Given the description of an element on the screen output the (x, y) to click on. 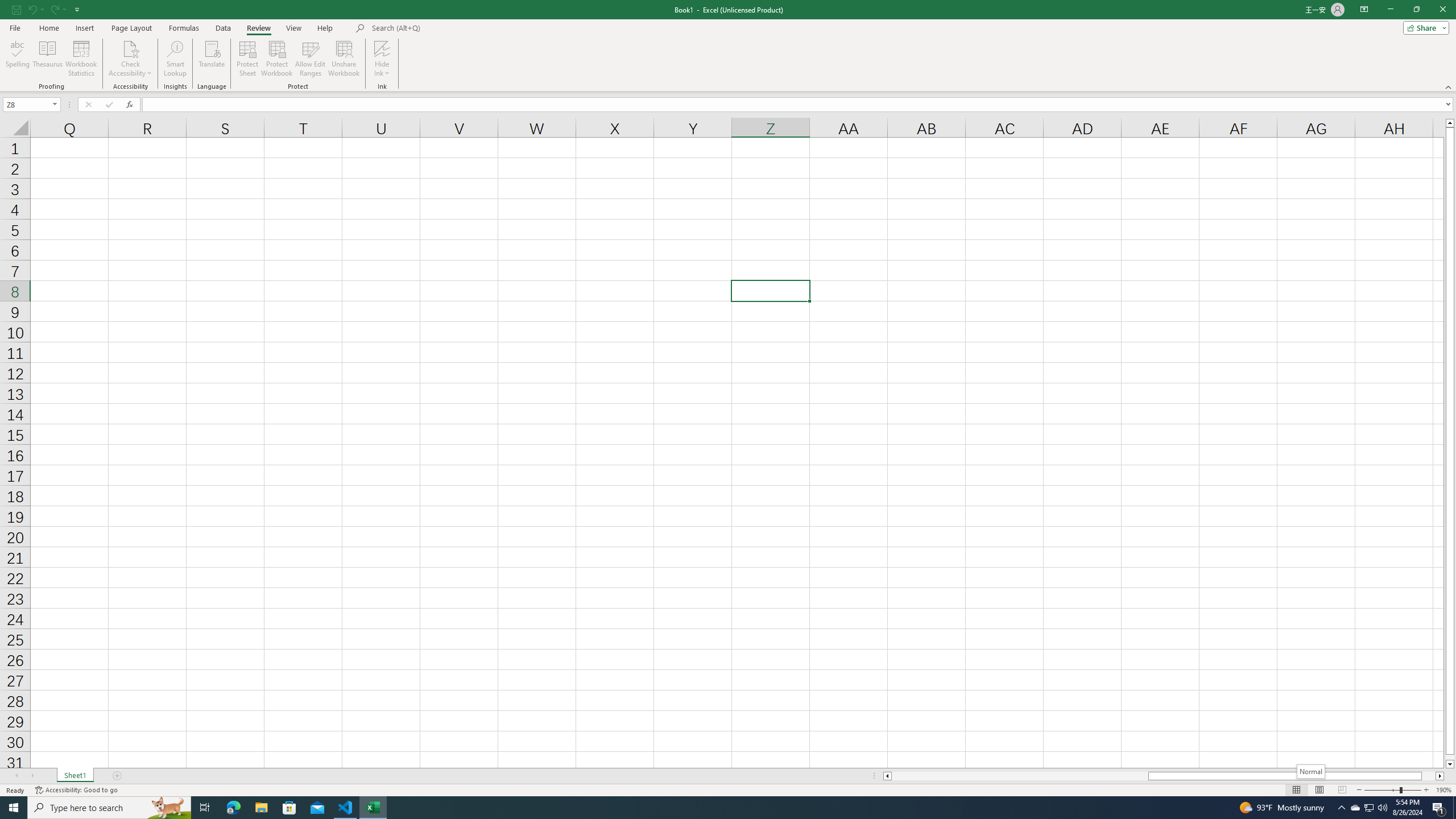
Smart Lookup (175, 58)
Allow Edit Ranges (310, 58)
Workbook Statistics (81, 58)
Translate (211, 58)
